Given the description of an element on the screen output the (x, y) to click on. 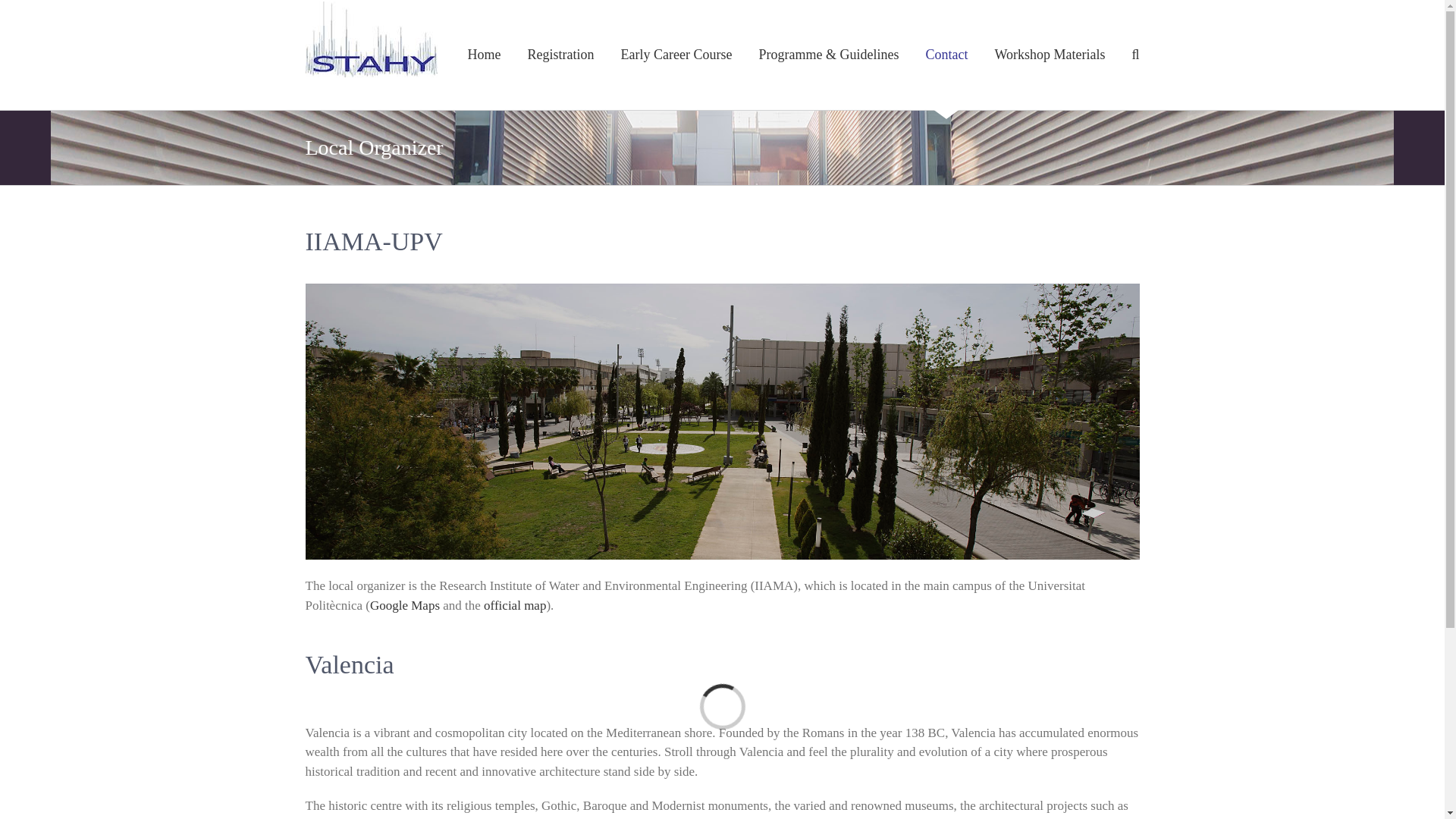
Workshop Materials (1049, 54)
Early Career Course (676, 54)
Google Maps (404, 605)
official map (514, 605)
